Given the description of an element on the screen output the (x, y) to click on. 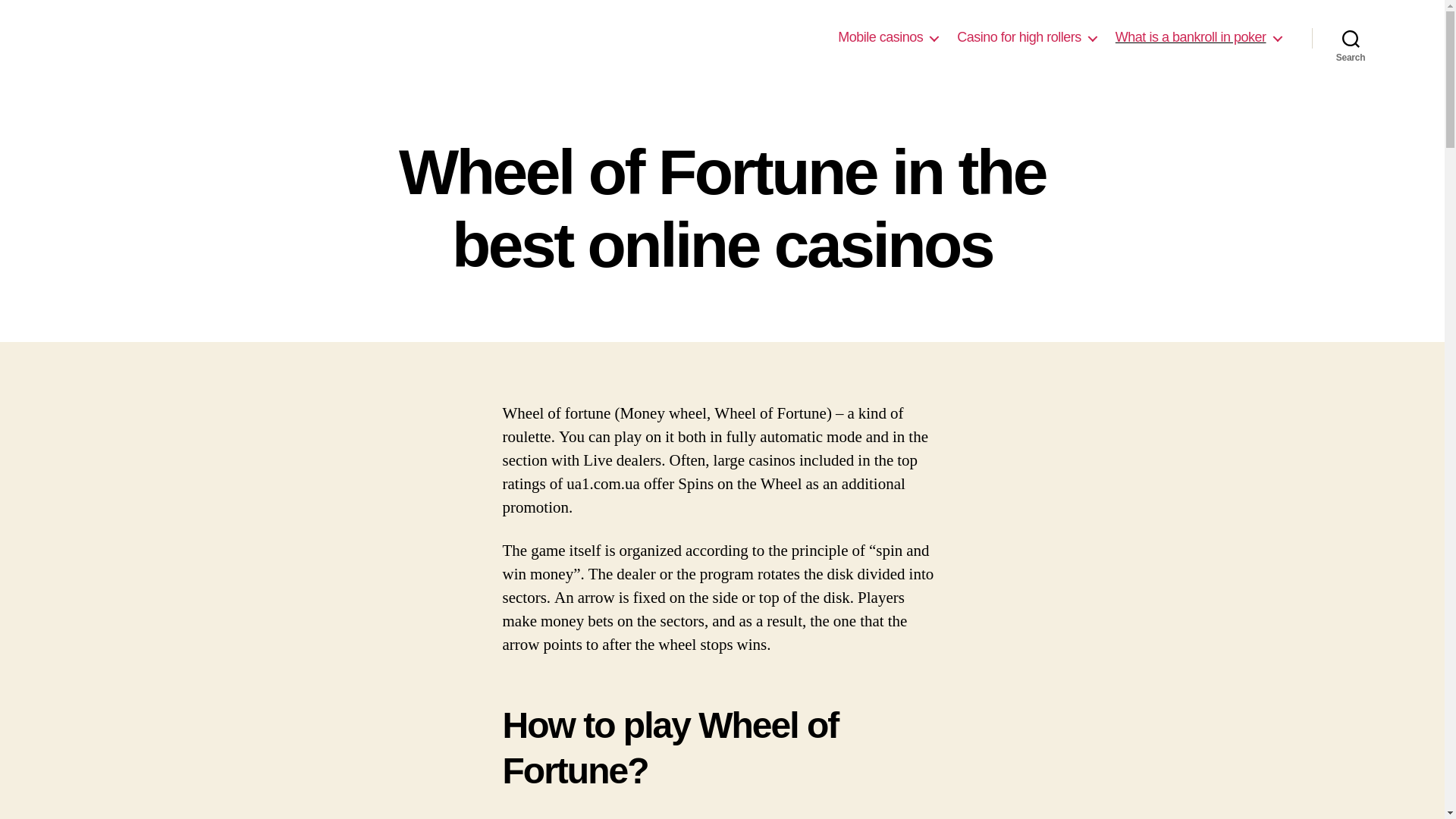
Search (1350, 37)
Casino for high rollers (1026, 37)
Mobile casinos (887, 37)
What is a bankroll in poker (1198, 37)
